Given the description of an element on the screen output the (x, y) to click on. 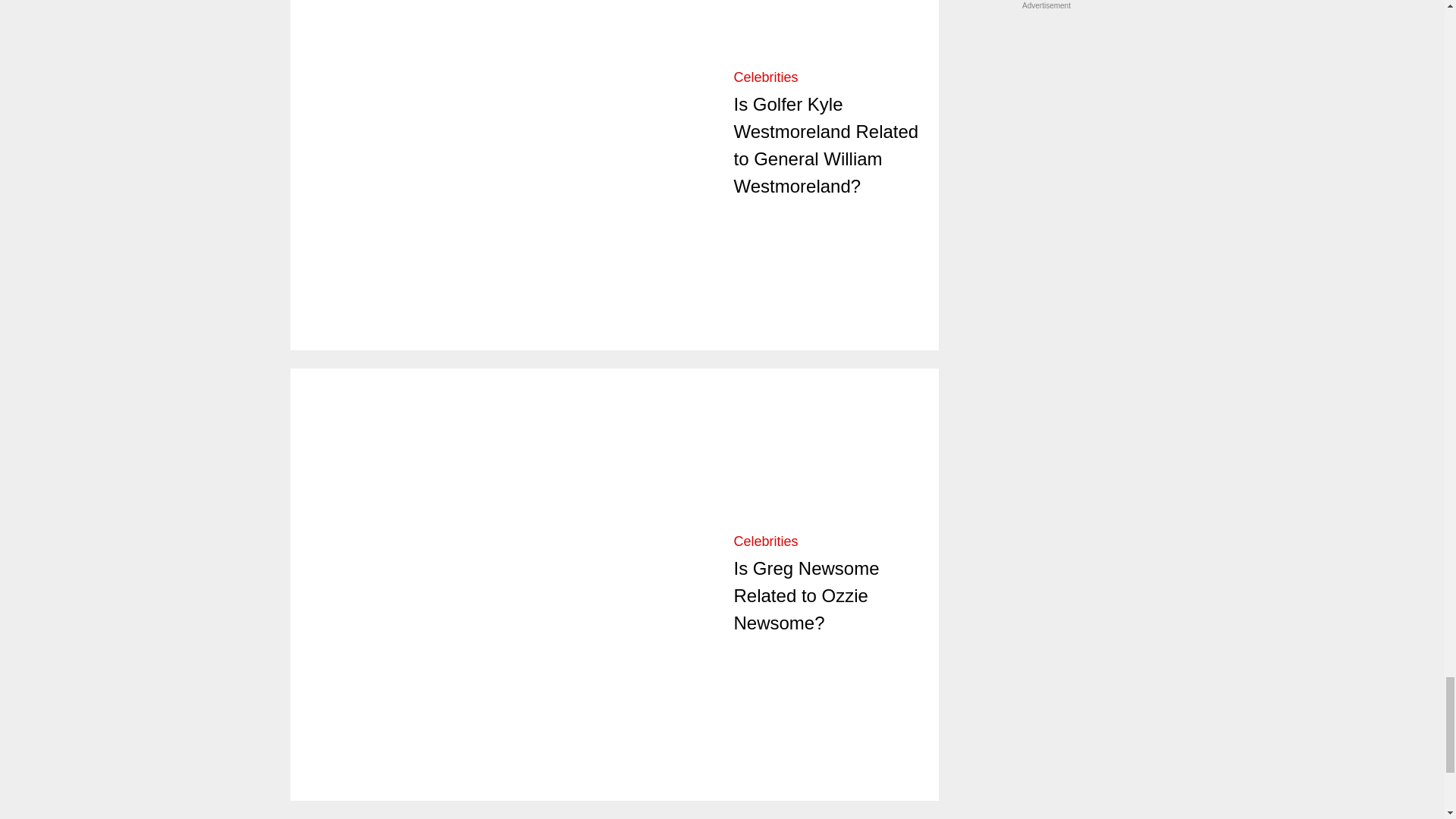
Category Name (765, 540)
Category Name (765, 77)
